Given the description of an element on the screen output the (x, y) to click on. 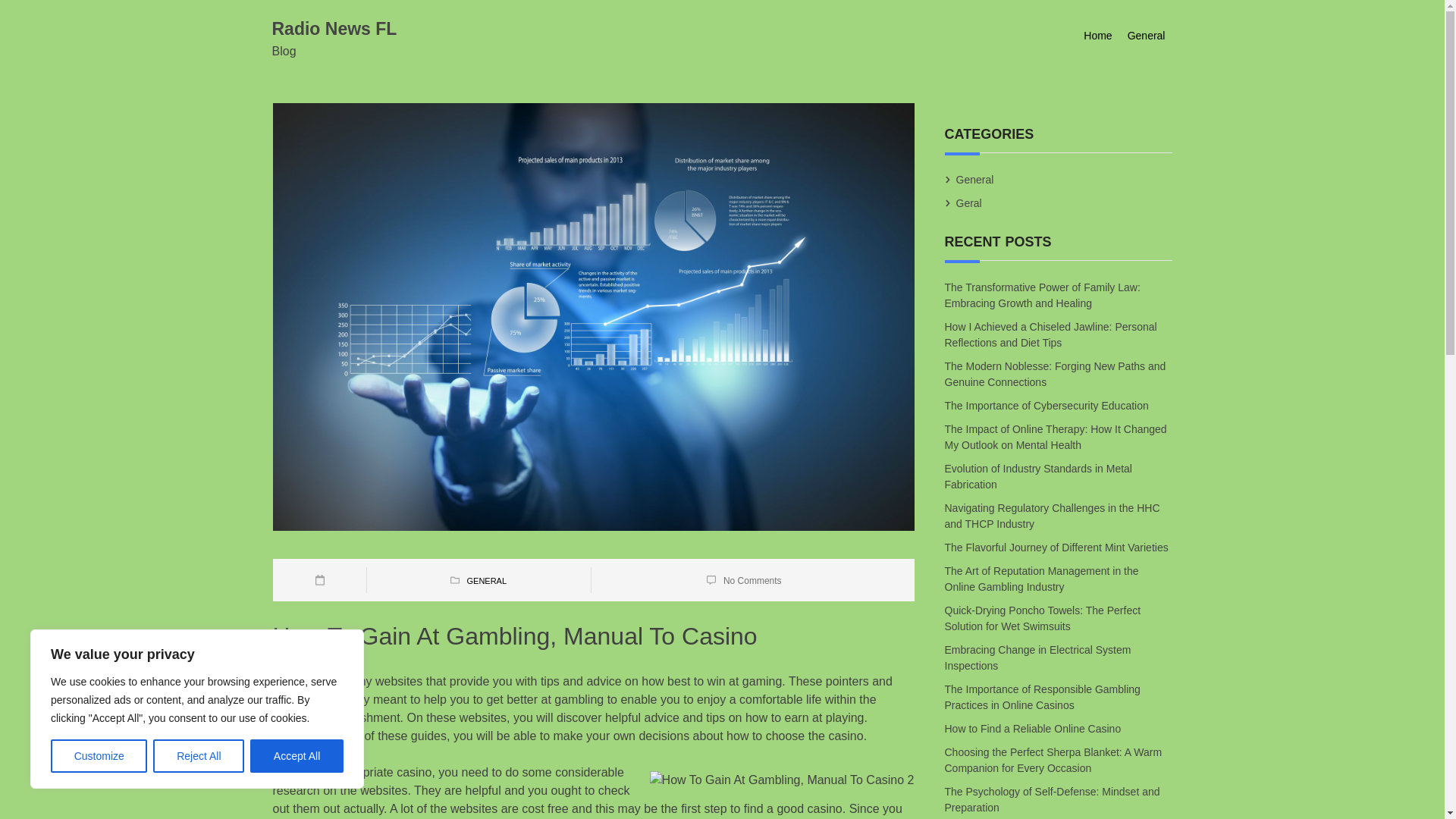
The Flavorful Journey of Different Mint Varieties (1057, 548)
No Comments (752, 579)
The Importance of Cybersecurity Education (1047, 404)
Geral (968, 203)
Evolution of Industry Standards in Metal Fabrication (1038, 476)
Radio News FL (333, 28)
Customize (98, 756)
General (974, 179)
GENERAL (485, 580)
General (1146, 35)
Home (1097, 35)
